Given the description of an element on the screen output the (x, y) to click on. 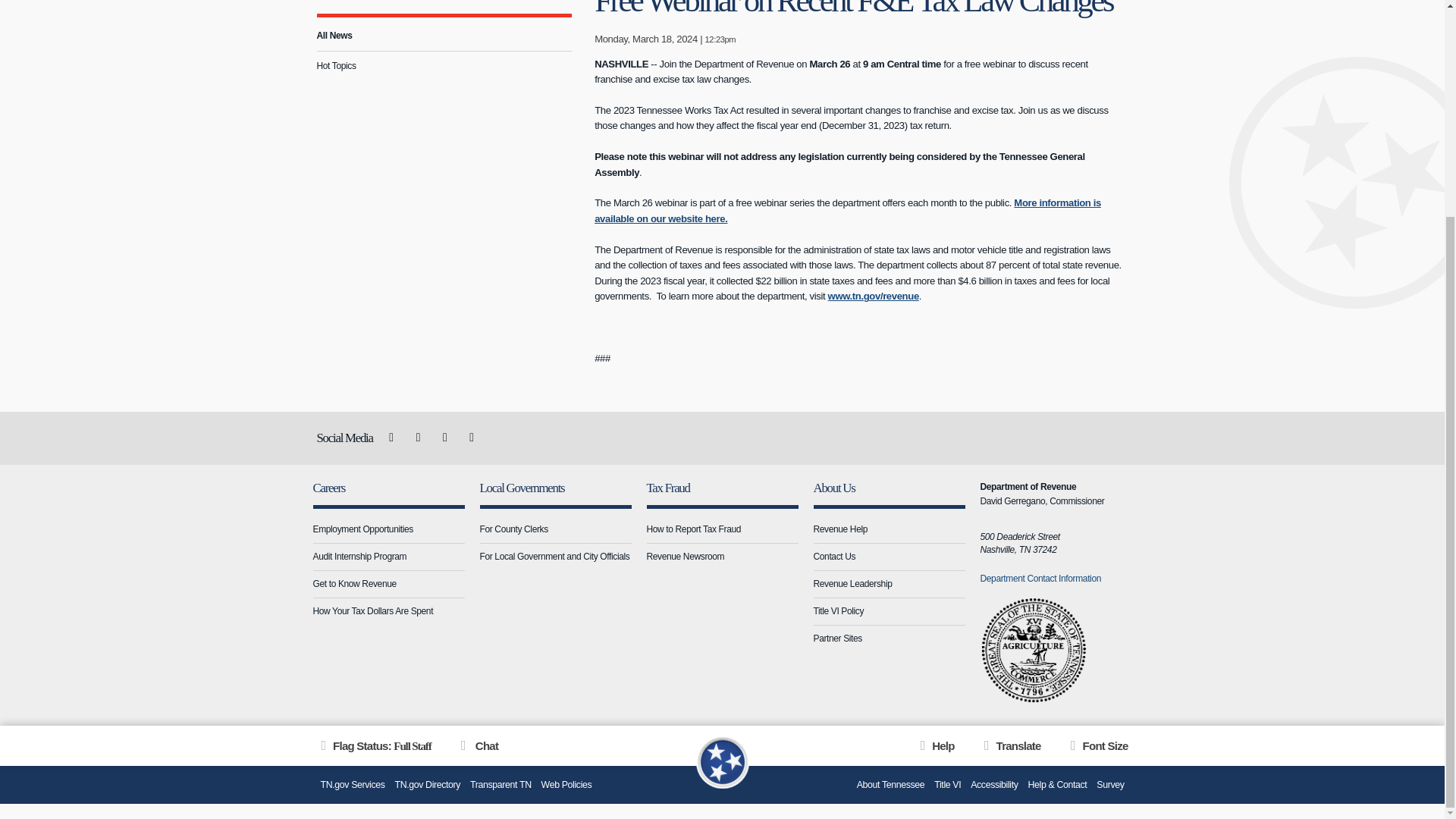
Newsroom (341, 0)
All News (444, 35)
